Given the description of an element on the screen output the (x, y) to click on. 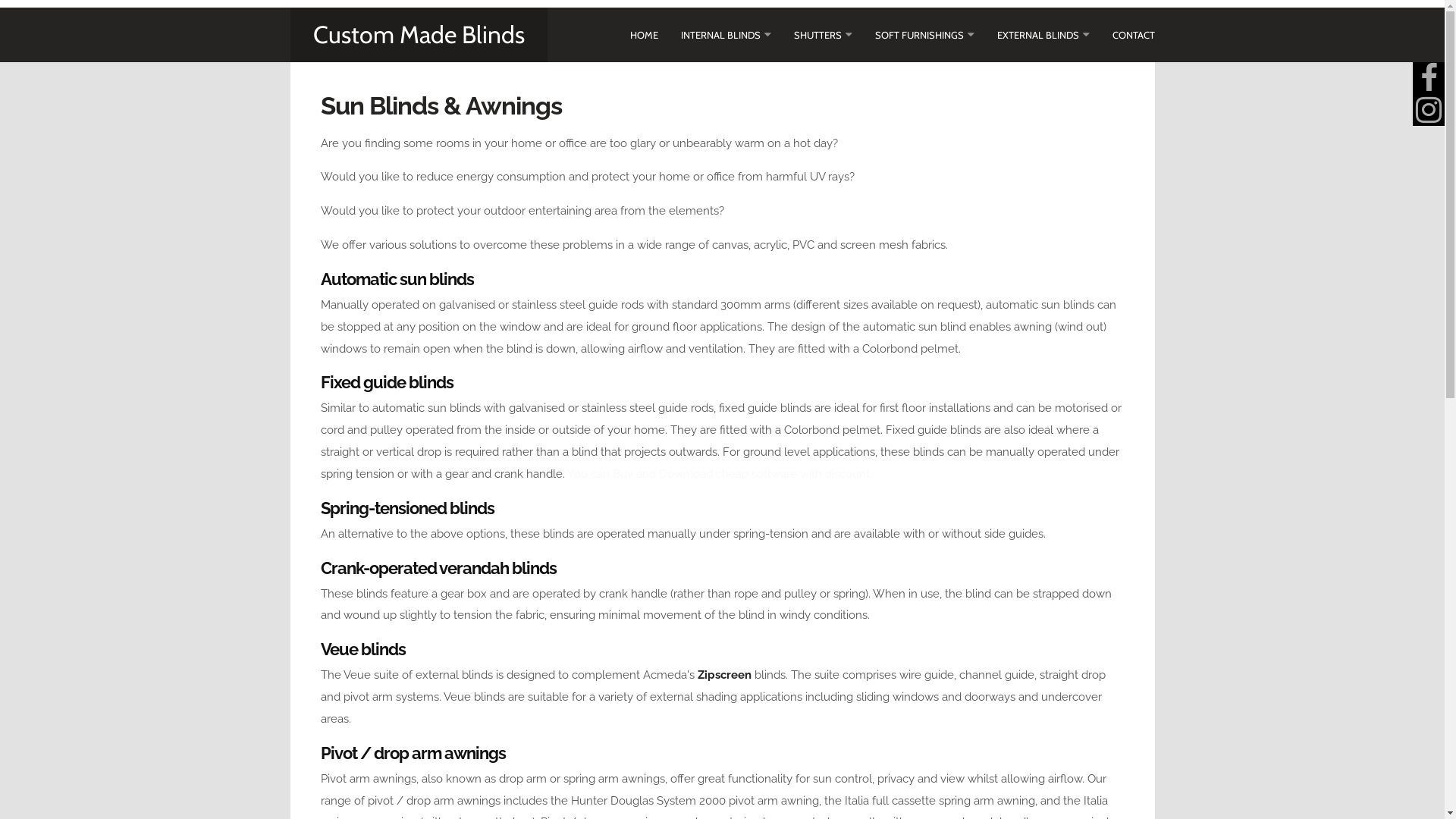
Zipscreen Element type: text (724, 674)
Facebook Element type: text (1428, 78)
SHUTTERS Element type: text (816, 34)
INTERNAL BLINDS Element type: text (720, 34)
HOME Element type: text (643, 34)
EXTERNAL BLINDS Element type: text (1037, 34)
cheap software Element type: text (756, 473)
SOFT FURNISHINGS Element type: text (919, 34)
Instagram Element type: text (1428, 109)
CONTACT Element type: text (1132, 34)
Custom Made Blinds Element type: text (418, 34)
